Given the description of an element on the screen output the (x, y) to click on. 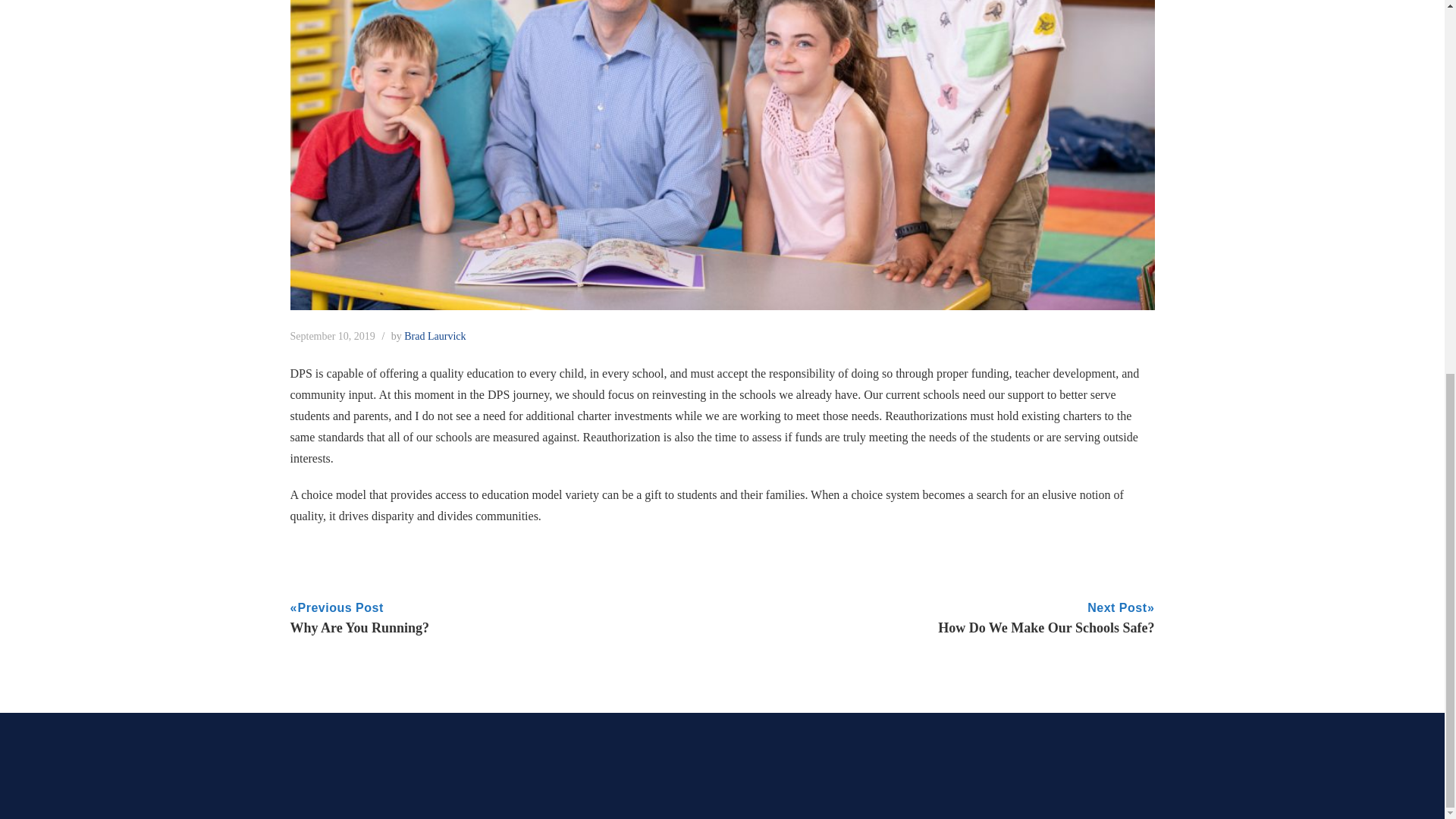
Previous Post (339, 608)
Next Post (1117, 608)
Why Are You Running? (359, 627)
How Do We Make Our Schools Safe? (1045, 627)
Brad Laurvick (434, 336)
